Given the description of an element on the screen output the (x, y) to click on. 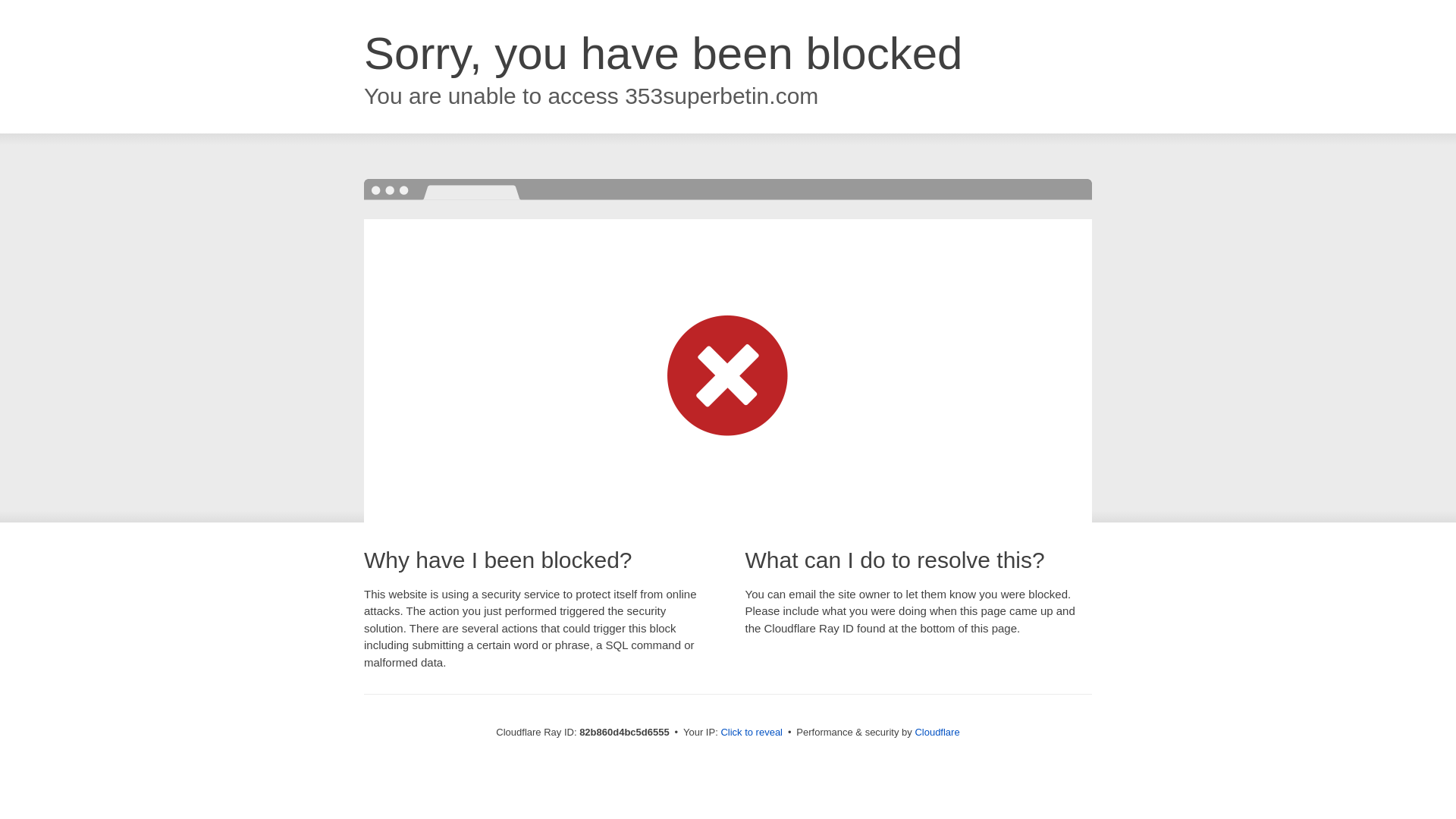
Cloudflare Element type: text (936, 731)
Click to reveal Element type: text (751, 732)
